Given the description of an element on the screen output the (x, y) to click on. 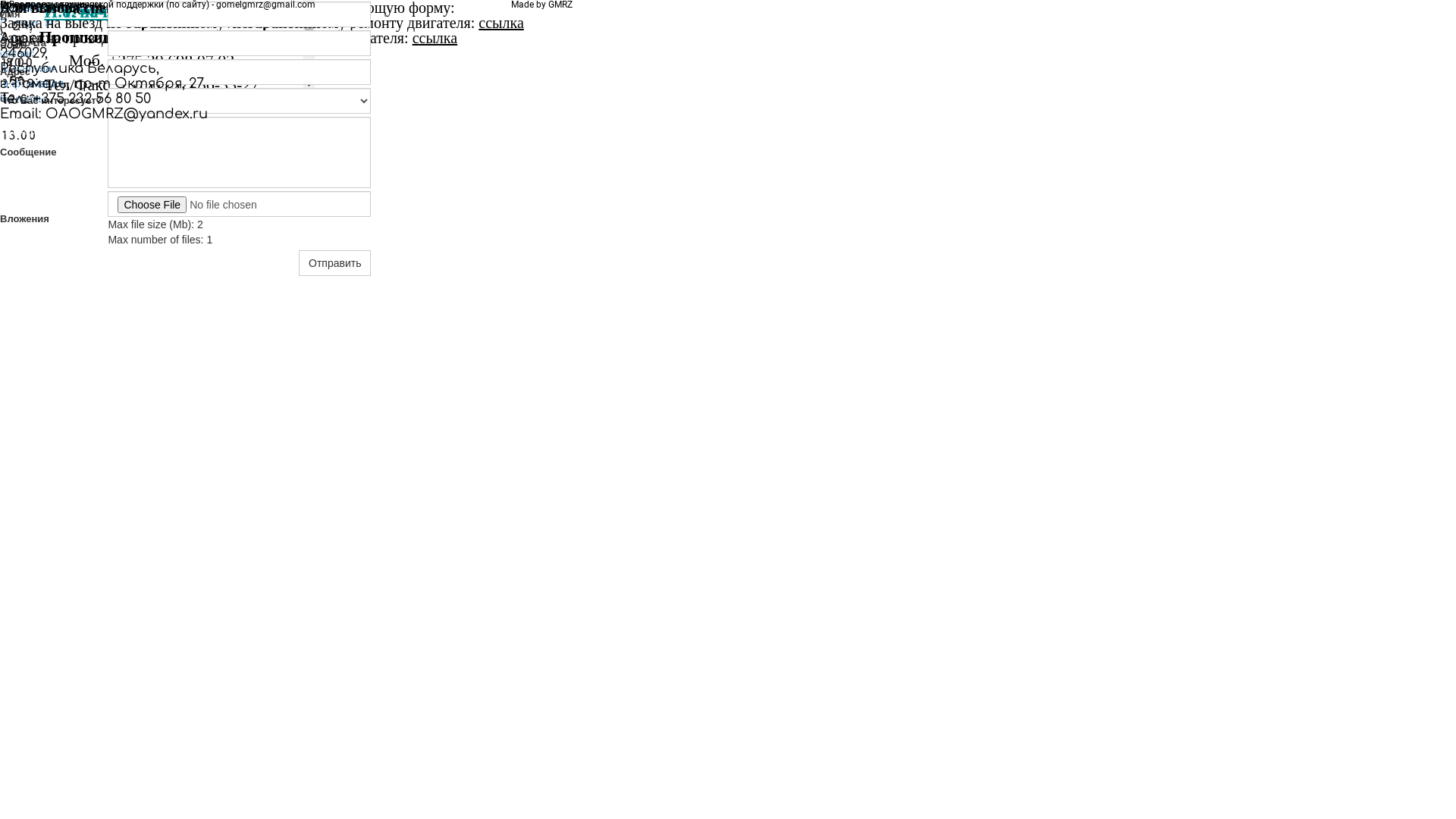
OAOGMRZ@yandex.ru Element type: text (126, 113)
OAOGMRZ@yandex.ru Element type: text (80, 8)
